Given the description of an element on the screen output the (x, y) to click on. 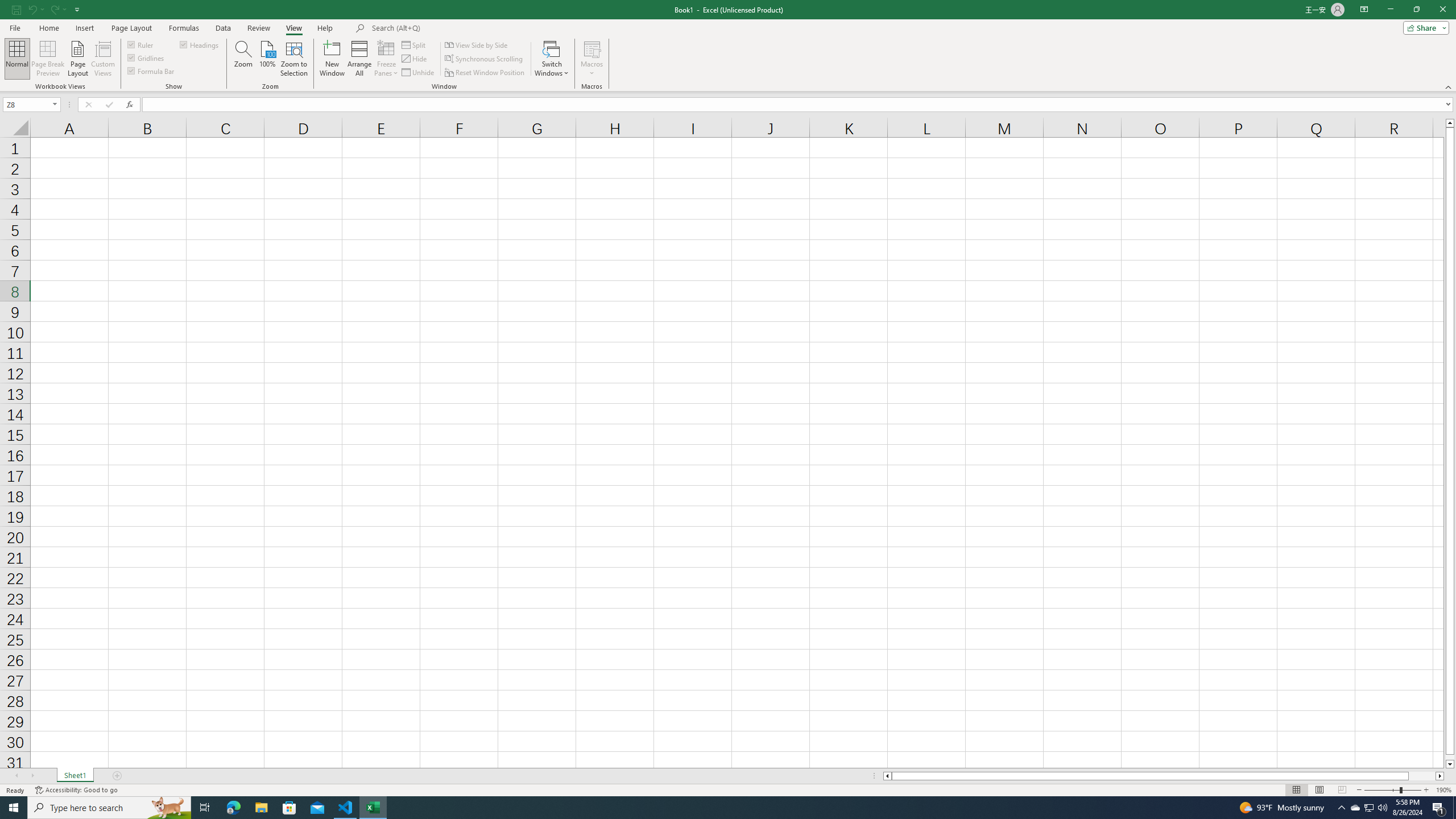
Hide (415, 58)
Formula Bar (798, 104)
